Given the description of an element on the screen output the (x, y) to click on. 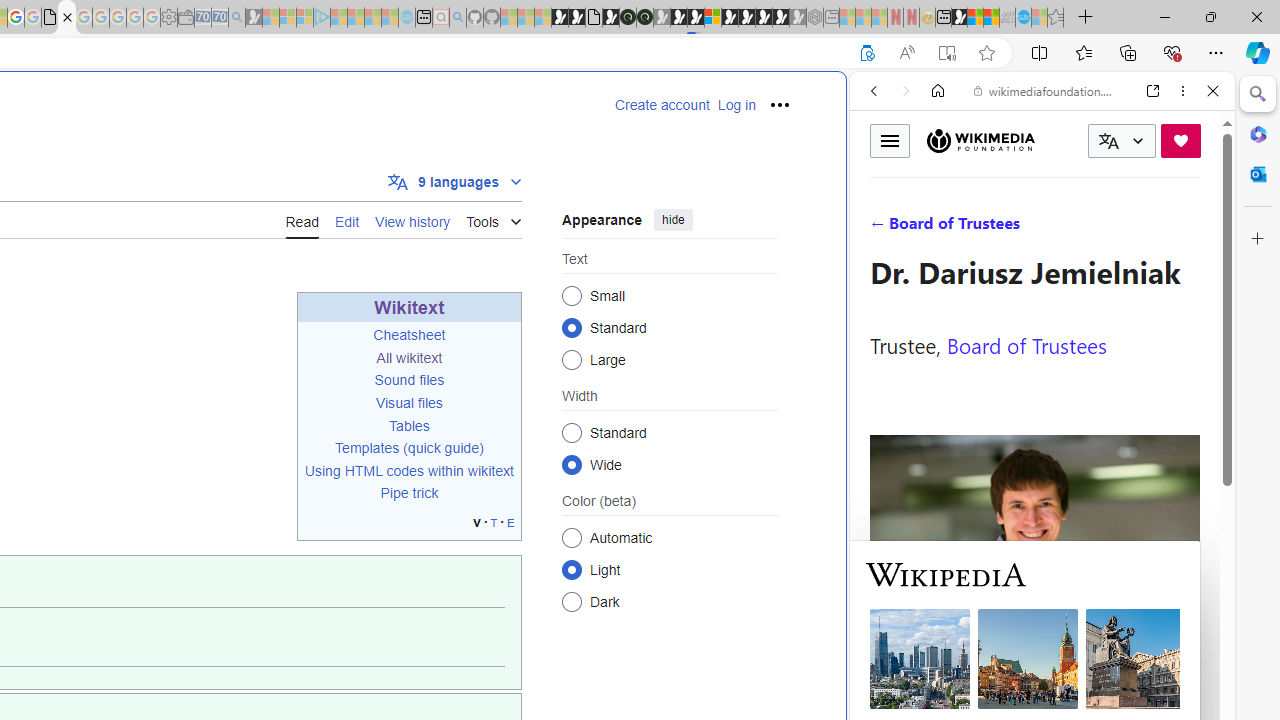
Templates (quick guide) (409, 448)
Cheatsheet (409, 335)
Visual files (409, 402)
Class: i icon icon-translate language-switcher__icon (1108, 141)
e (509, 522)
Edit (346, 219)
